Given the description of an element on the screen output the (x, y) to click on. 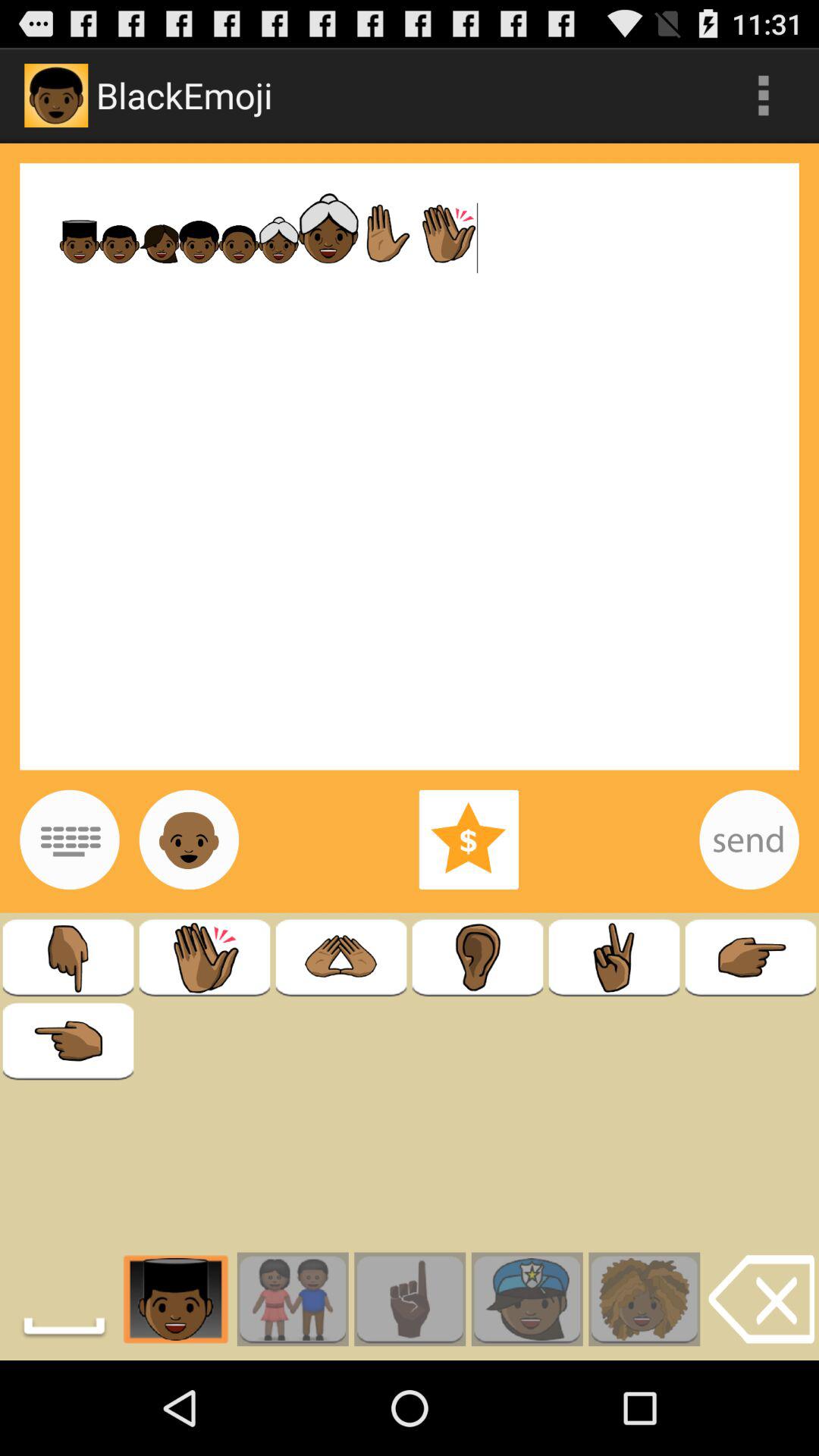
just emoji option (188, 839)
